Given the description of an element on the screen output the (x, y) to click on. 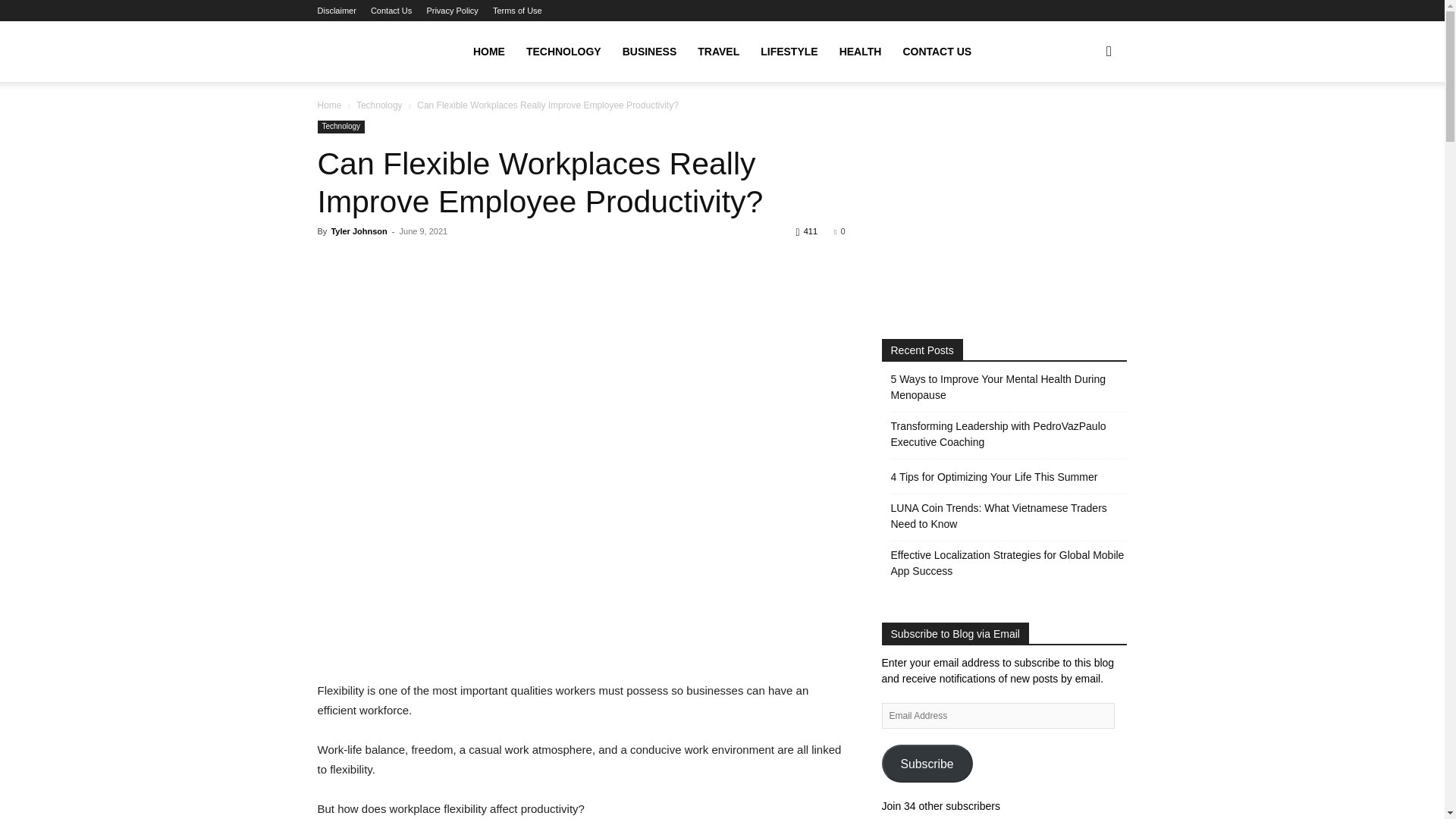
Technology (379, 104)
HEALTH (860, 51)
Contact Us (391, 10)
BUSINESS (649, 51)
CONTACT US (936, 51)
Technology (341, 126)
LIFESTYLE (788, 51)
Home (328, 104)
TRAVEL (718, 51)
0 (839, 230)
